Given the description of an element on the screen output the (x, y) to click on. 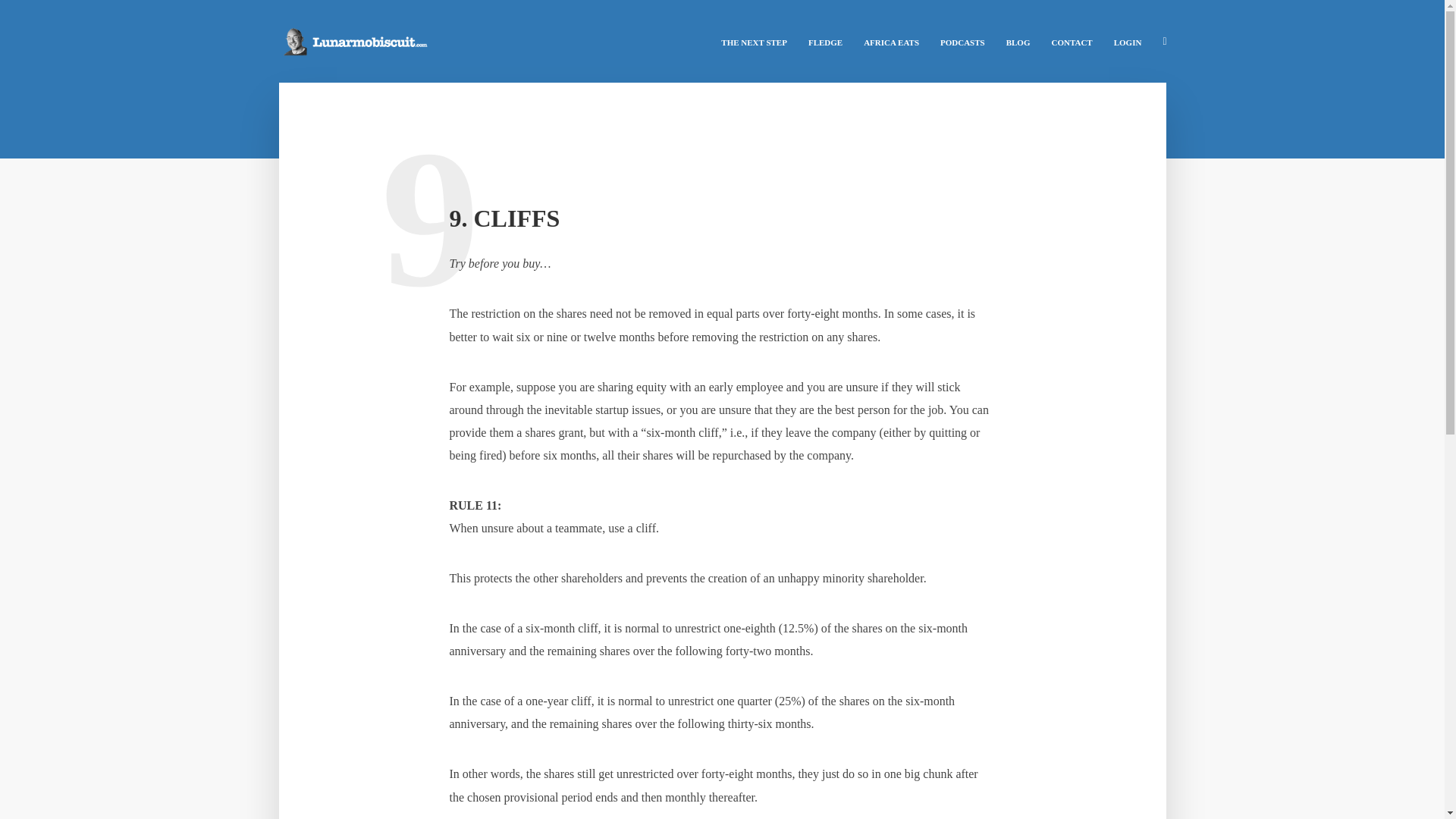
LOGIN (1128, 41)
THE NEXT STEP (753, 41)
BLOG (1018, 41)
PODCASTS (962, 41)
FLEDGE (825, 41)
CONTACT (1071, 41)
AFRICA EATS (891, 41)
